Given the description of an element on the screen output the (x, y) to click on. 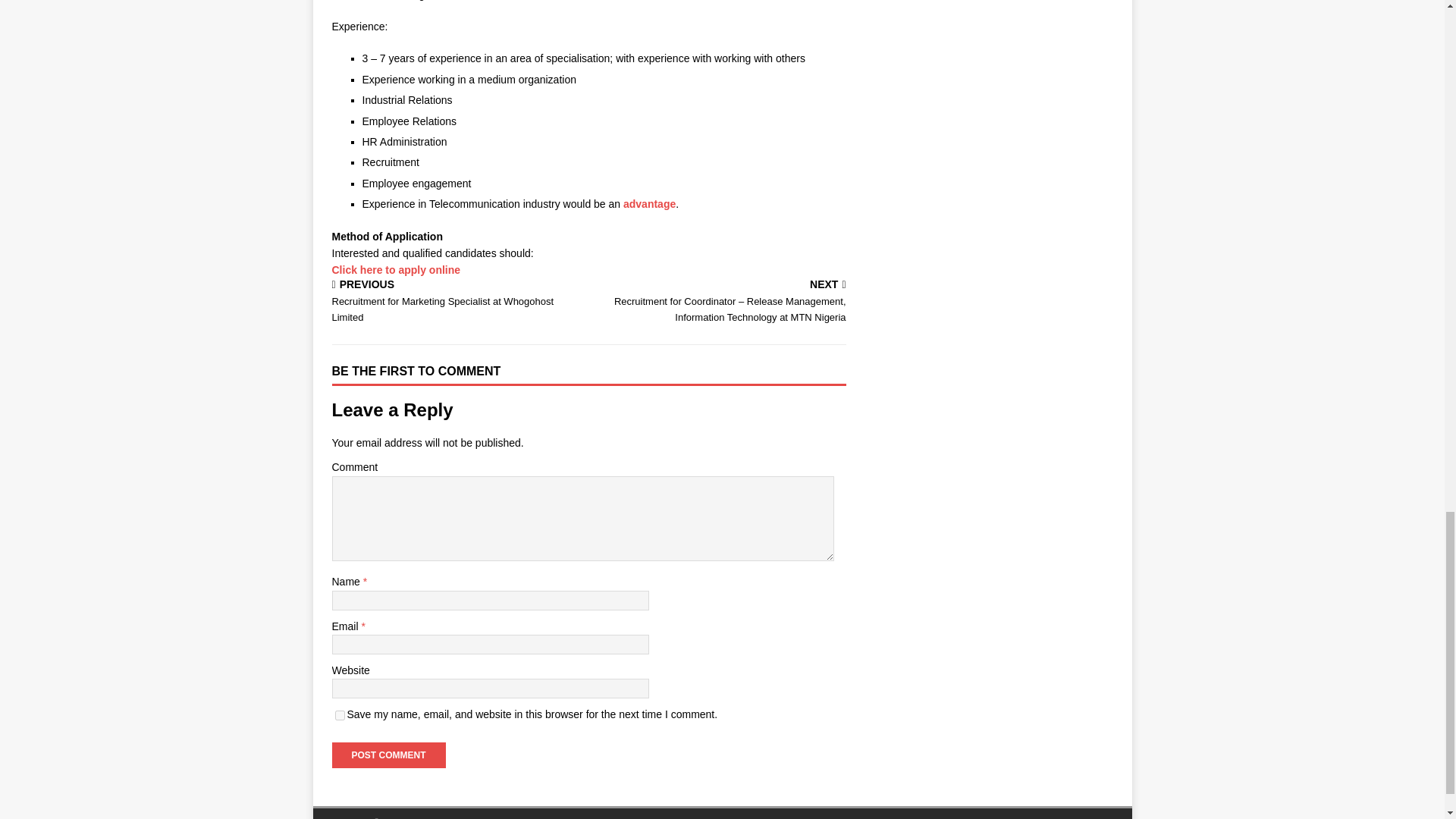
Click here to apply online (396, 269)
Post Comment (388, 755)
yes (339, 715)
Post Comment (388, 755)
advantage (649, 203)
